Given the description of an element on the screen output the (x, y) to click on. 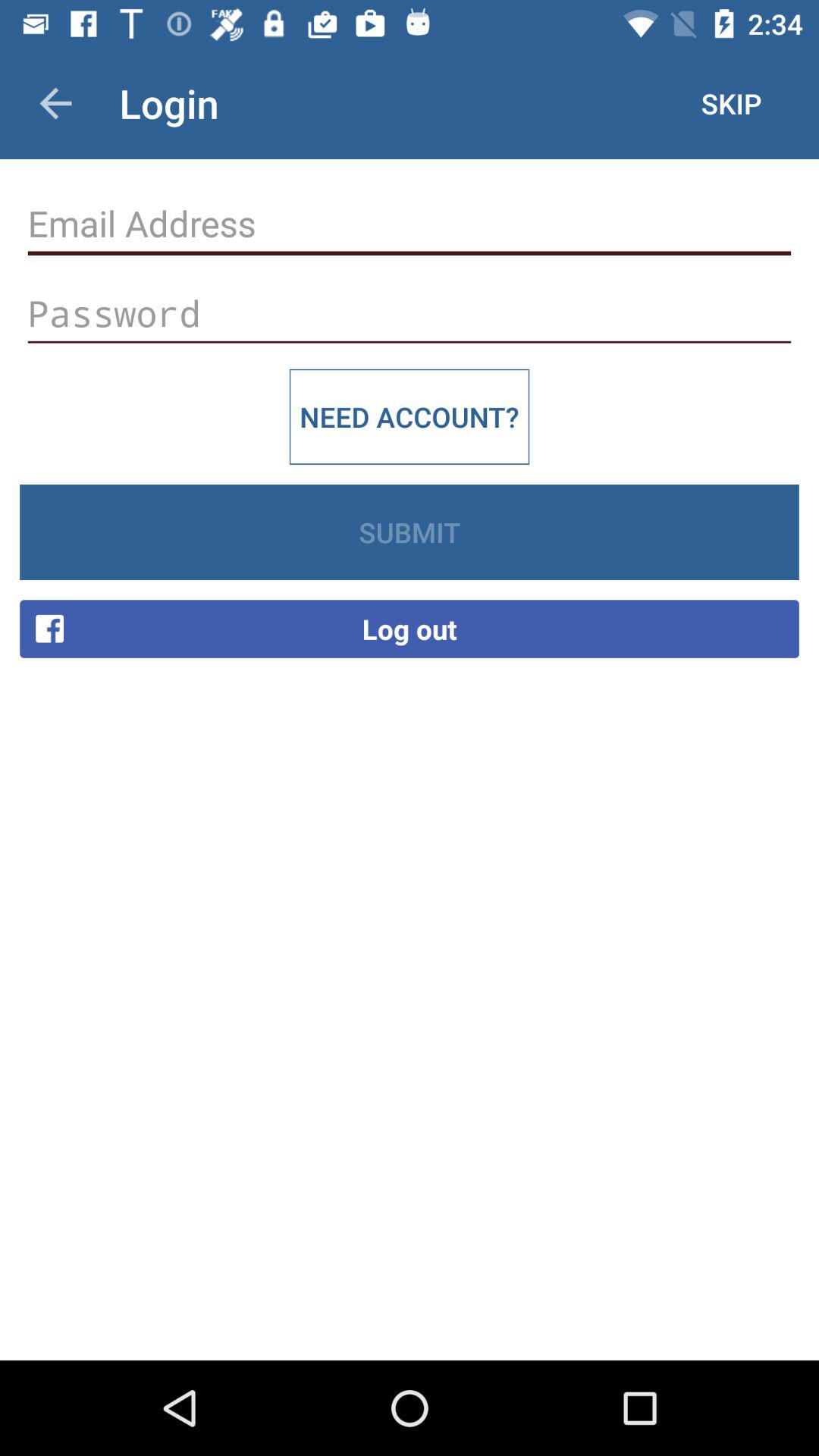
select text box (409, 224)
